Given the description of an element on the screen output the (x, y) to click on. 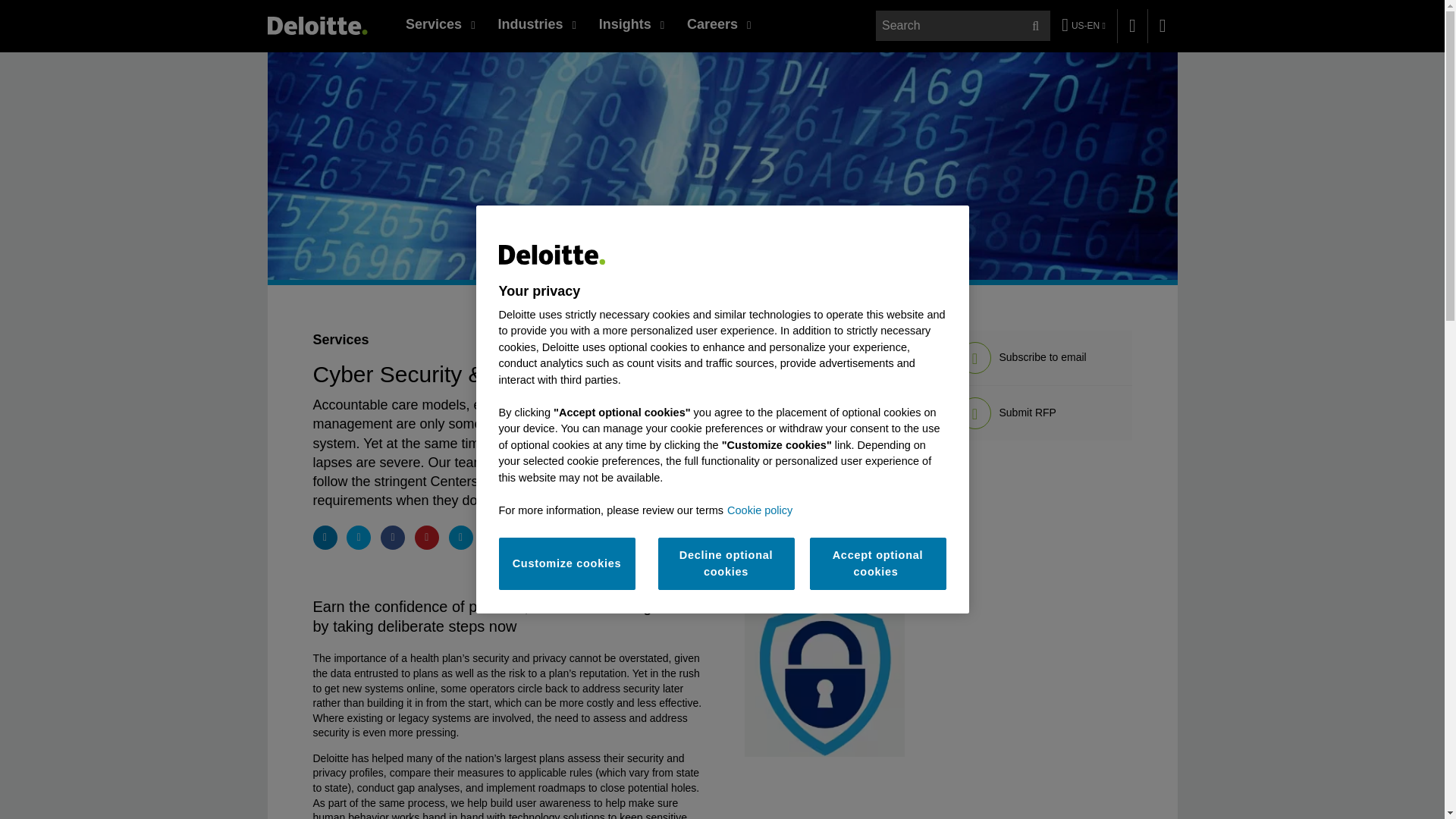
Industries (536, 24)
Share via email (460, 537)
Share on Facebook (392, 537)
United States (316, 25)
Search (1034, 25)
Pin on Pinterest (426, 537)
Share on LinkedIn (324, 537)
Services (440, 24)
search (963, 25)
Share on Twitter (358, 537)
